Given the description of an element on the screen output the (x, y) to click on. 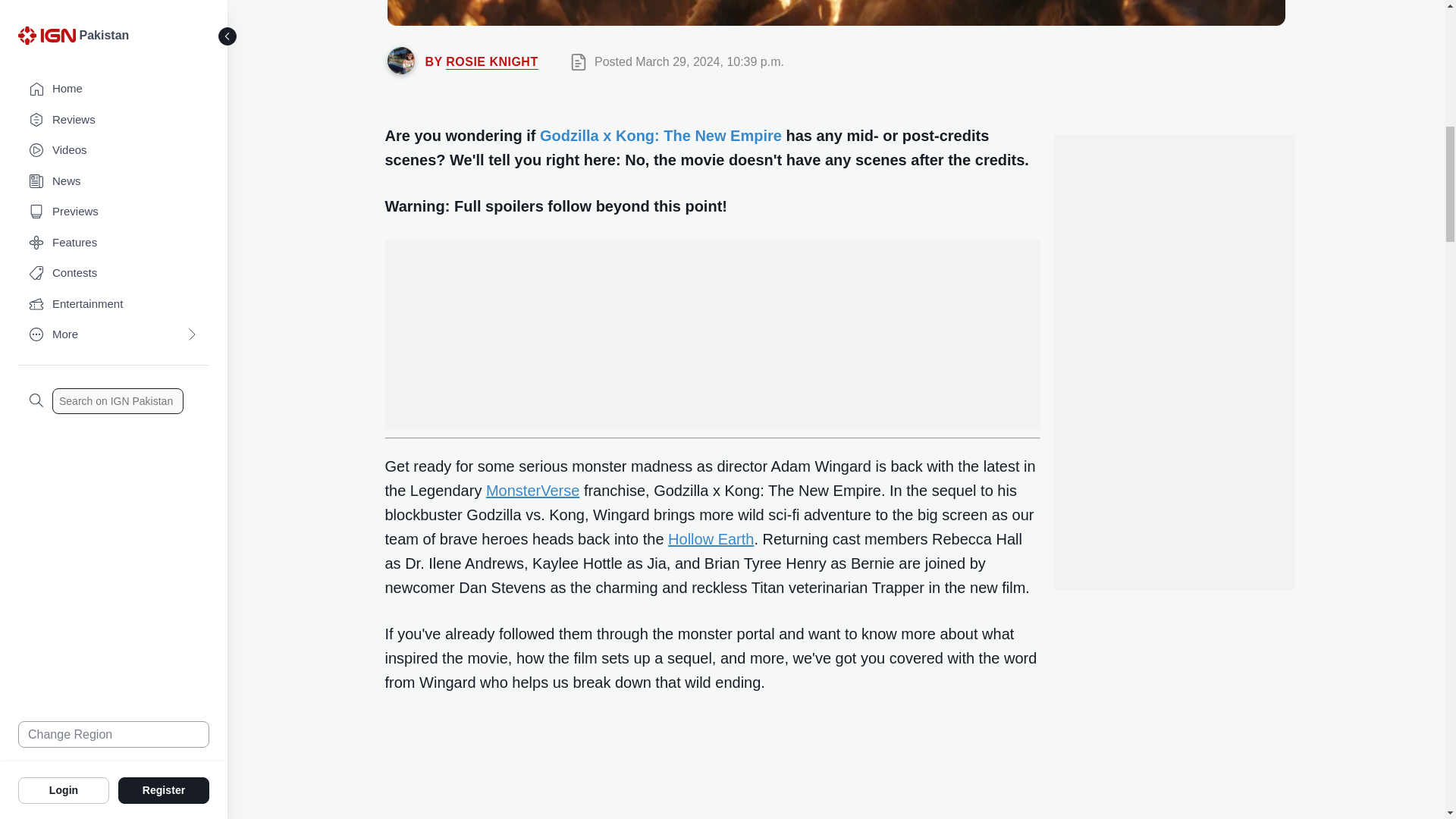
ROSIE KNIGHT (491, 61)
Hollow Earth (711, 538)
Godzilla x Kong: The New Empire (660, 135)
MonsterVerse (532, 490)
